Given the description of an element on the screen output the (x, y) to click on. 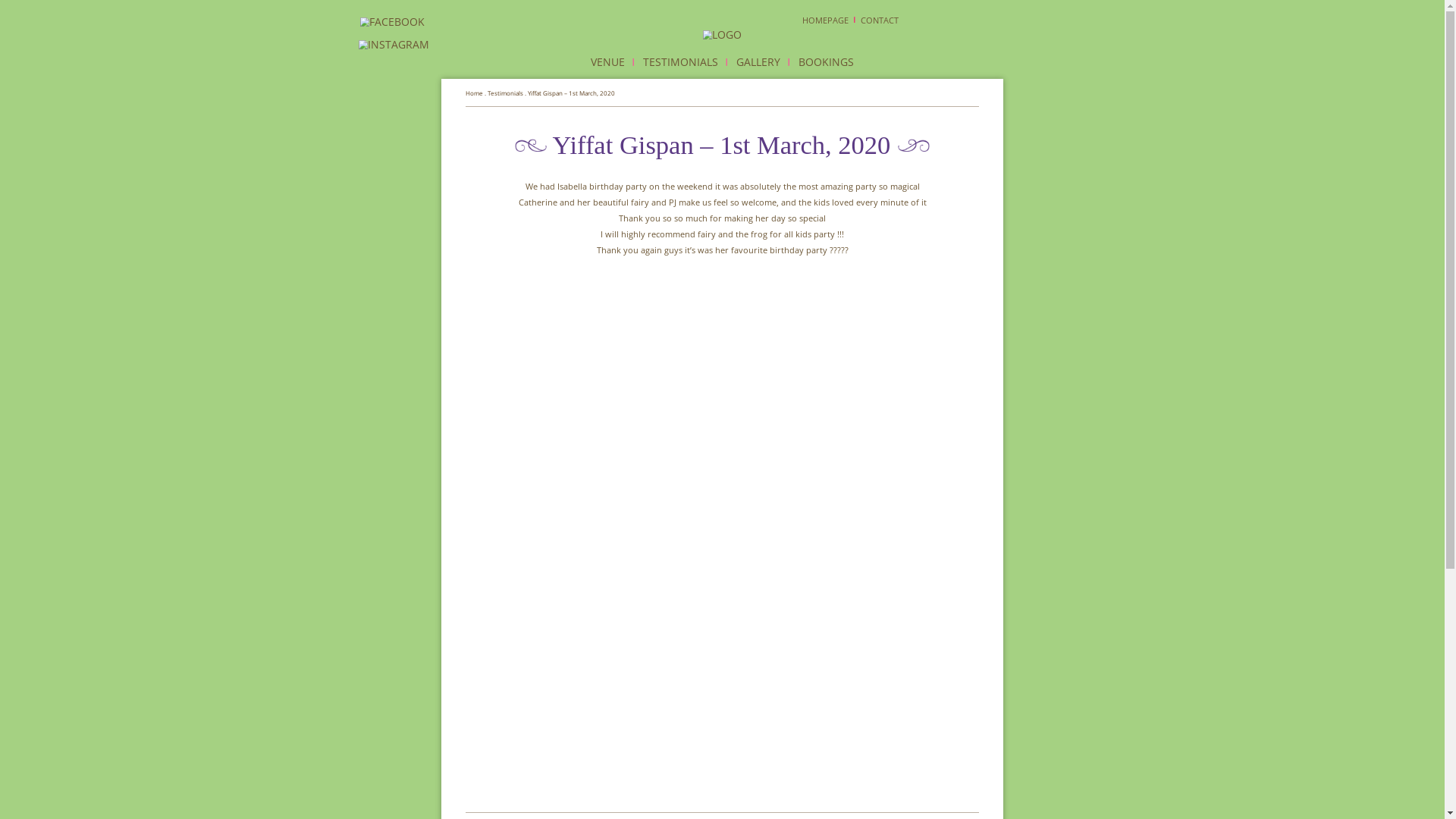
Facebook Element type: hover (522, 33)
VENUE Element type: text (809, 82)
TESTIMONIALS Element type: text (906, 82)
Home Element type: text (631, 122)
HOMEPAGE Element type: text (1099, 26)
Instagram Element type: hover (525, 66)
BOOKINGS Element type: text (1101, 82)
Finding Fairyland Element type: hover (962, 46)
Testimonials Element type: text (673, 122)
GALLERY Element type: text (1011, 82)
CONTACT Element type: text (1172, 26)
